Given the description of an element on the screen output the (x, y) to click on. 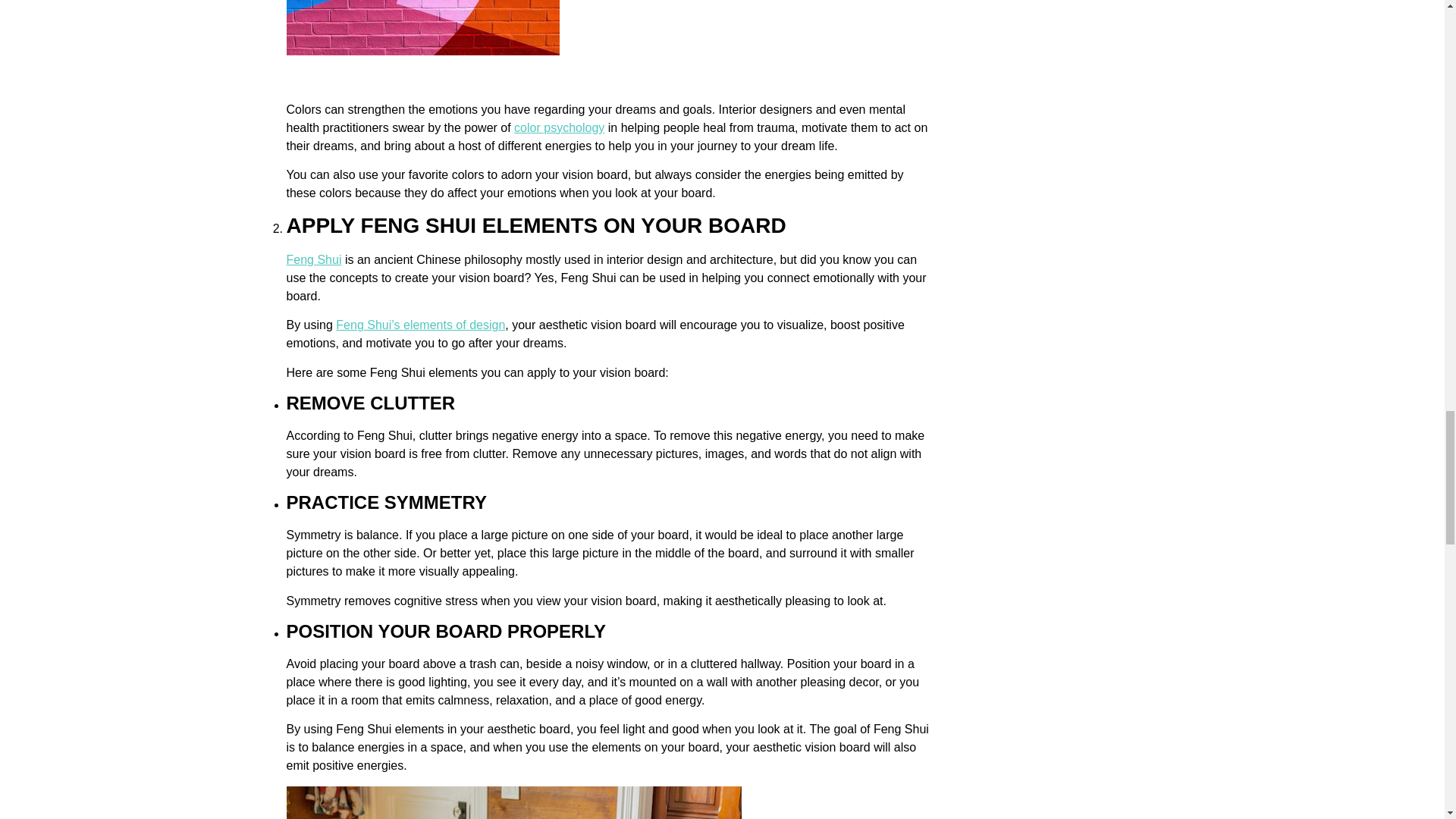
color psychology (558, 127)
Feng Shui (314, 259)
